Given the description of an element on the screen output the (x, y) to click on. 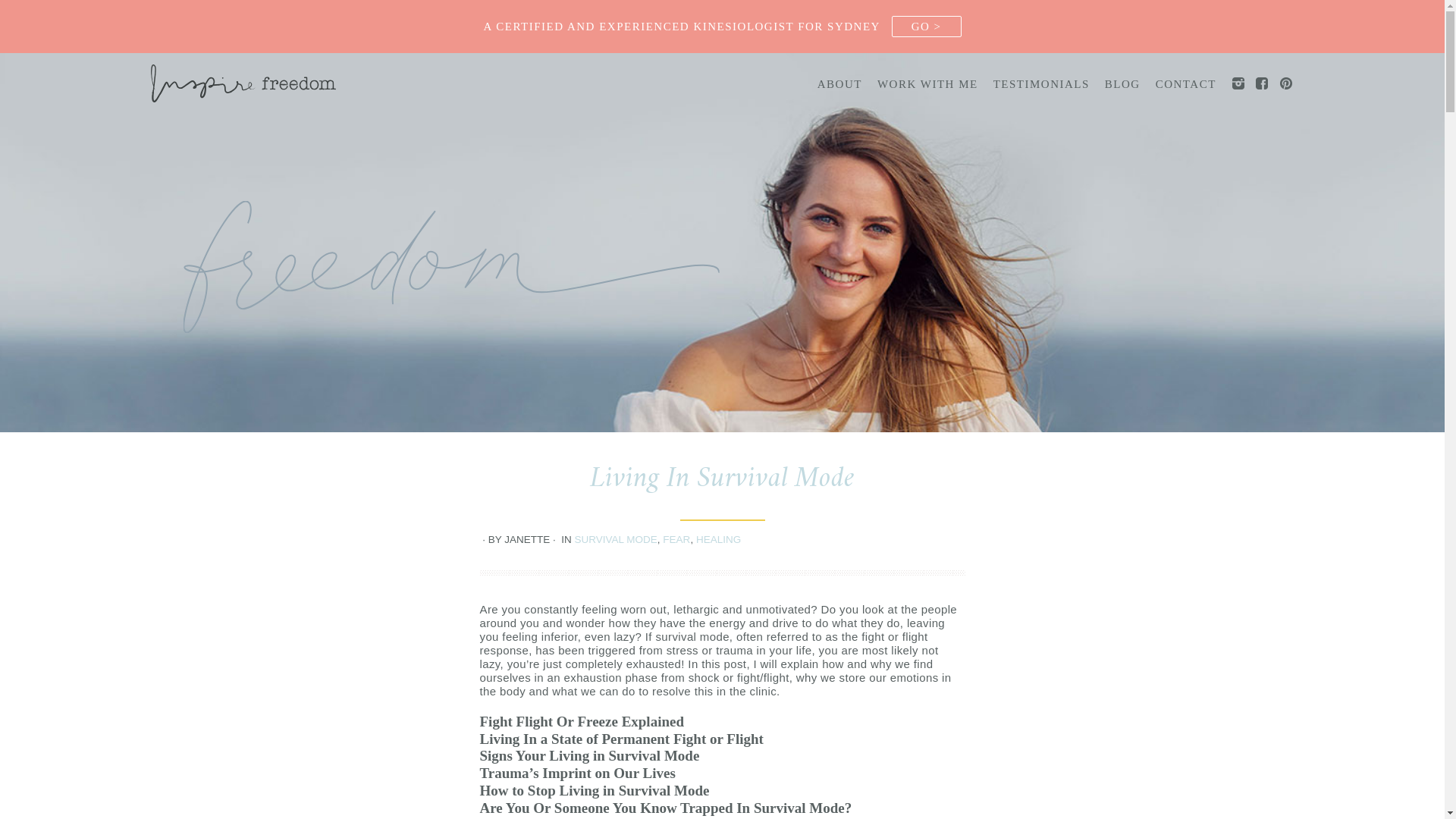
INSTAGRAM Element type: text (1237, 83)
WORK WITH ME Element type: text (927, 84)
PINTEREST Element type: text (1286, 83)
BLOG Element type: text (1122, 84)
GO > Element type: text (926, 26)
CONTACT Element type: text (1185, 84)
FEAR Element type: text (676, 539)
HEALING Element type: text (718, 539)
FACEBOOK Element type: text (1262, 83)
SURVIVAL MODE Element type: text (615, 539)
TESTIMONIALS Element type: text (1041, 84)
ABOUT Element type: text (839, 84)
